Given the description of an element on the screen output the (x, y) to click on. 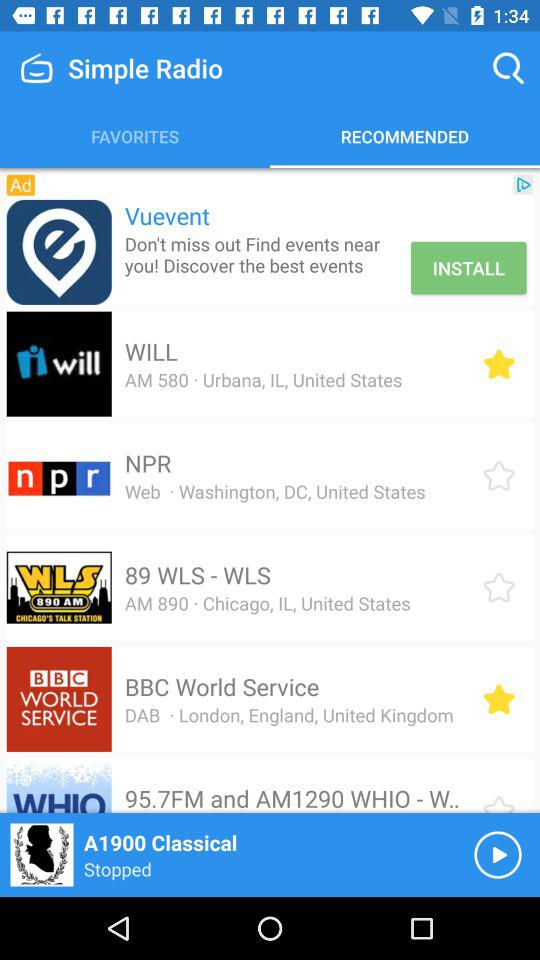
choose icon to the right of the vuevent item (523, 184)
